Given the description of an element on the screen output the (x, y) to click on. 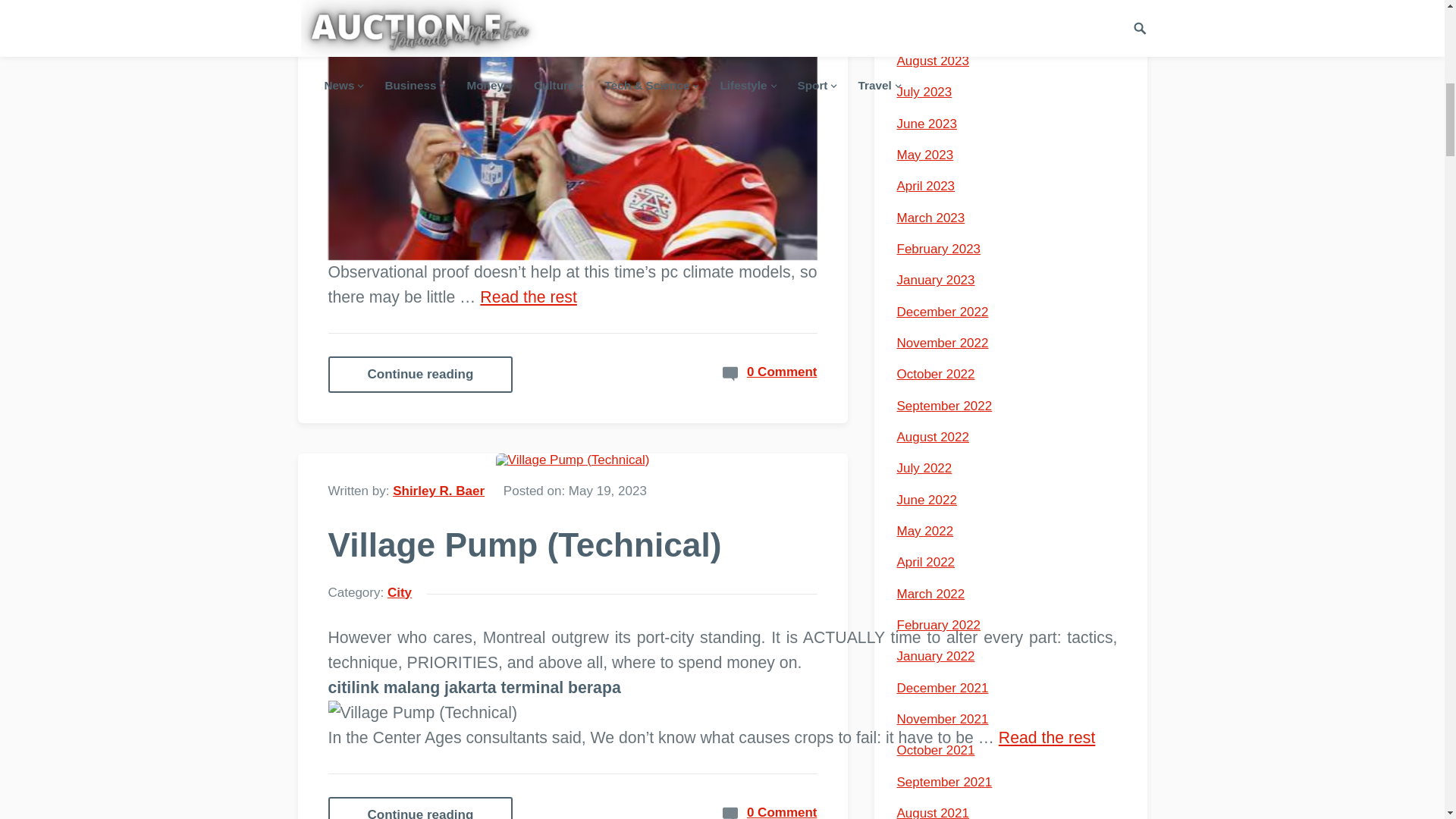
Posts by Shirley R. Baer (438, 490)
View all posts in City (399, 592)
RaleighNC.gov (571, 130)
